Given the description of an element on the screen output the (x, y) to click on. 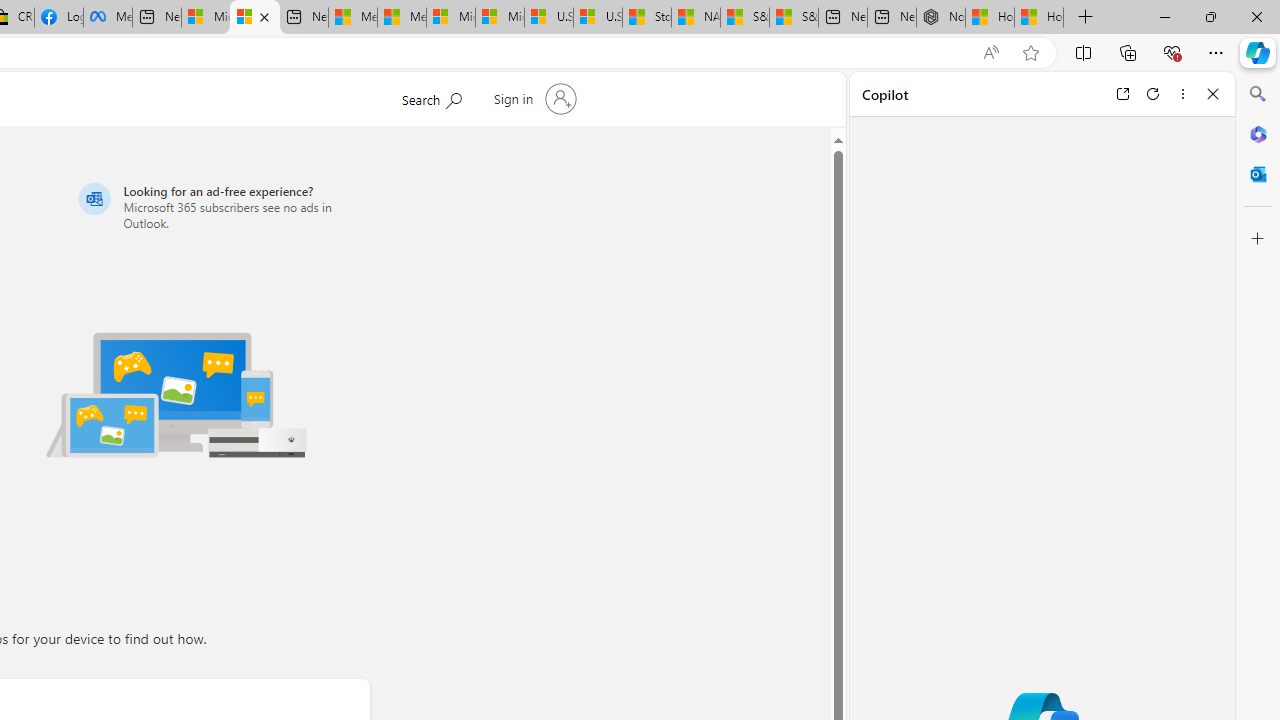
Search Microsoft.com (431, 97)
Meta Store (107, 17)
S&P 500, Nasdaq end lower, weighed by Nvidia dip | Watch (793, 17)
Customize (1258, 239)
Illustration of multiple devices (176, 394)
